Given the description of an element on the screen output the (x, y) to click on. 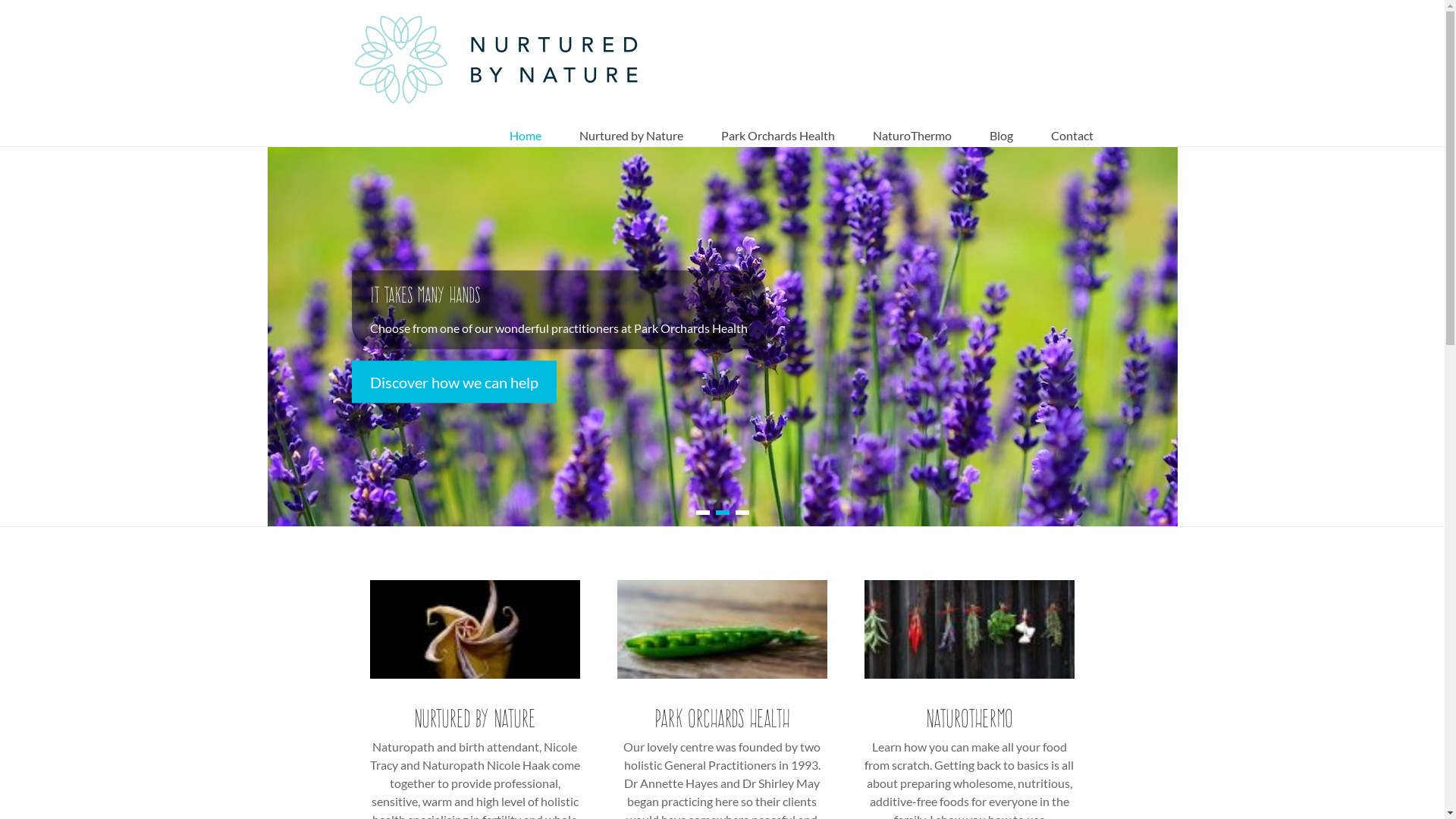
Nurtured by Nature Element type: text (631, 123)
Park Orchards Health Element type: hover (722, 629)
Nurtured by Nature Element type: text (474, 718)
It takes many hands Element type: text (425, 294)
Home Element type: text (525, 123)
Nurtured by Nature Element type: hover (475, 629)
Blog Element type: text (1000, 123)
Park Orchards Health Element type: text (777, 123)
Contact Element type: text (1072, 123)
Discover how we can help Element type: text (453, 381)
Park Orchards Health Element type: text (721, 718)
NaturoThermo Element type: text (911, 123)
NaturoThermo Element type: text (968, 718)
NaturoThermo Element type: hover (969, 629)
